Given the description of an element on the screen output the (x, y) to click on. 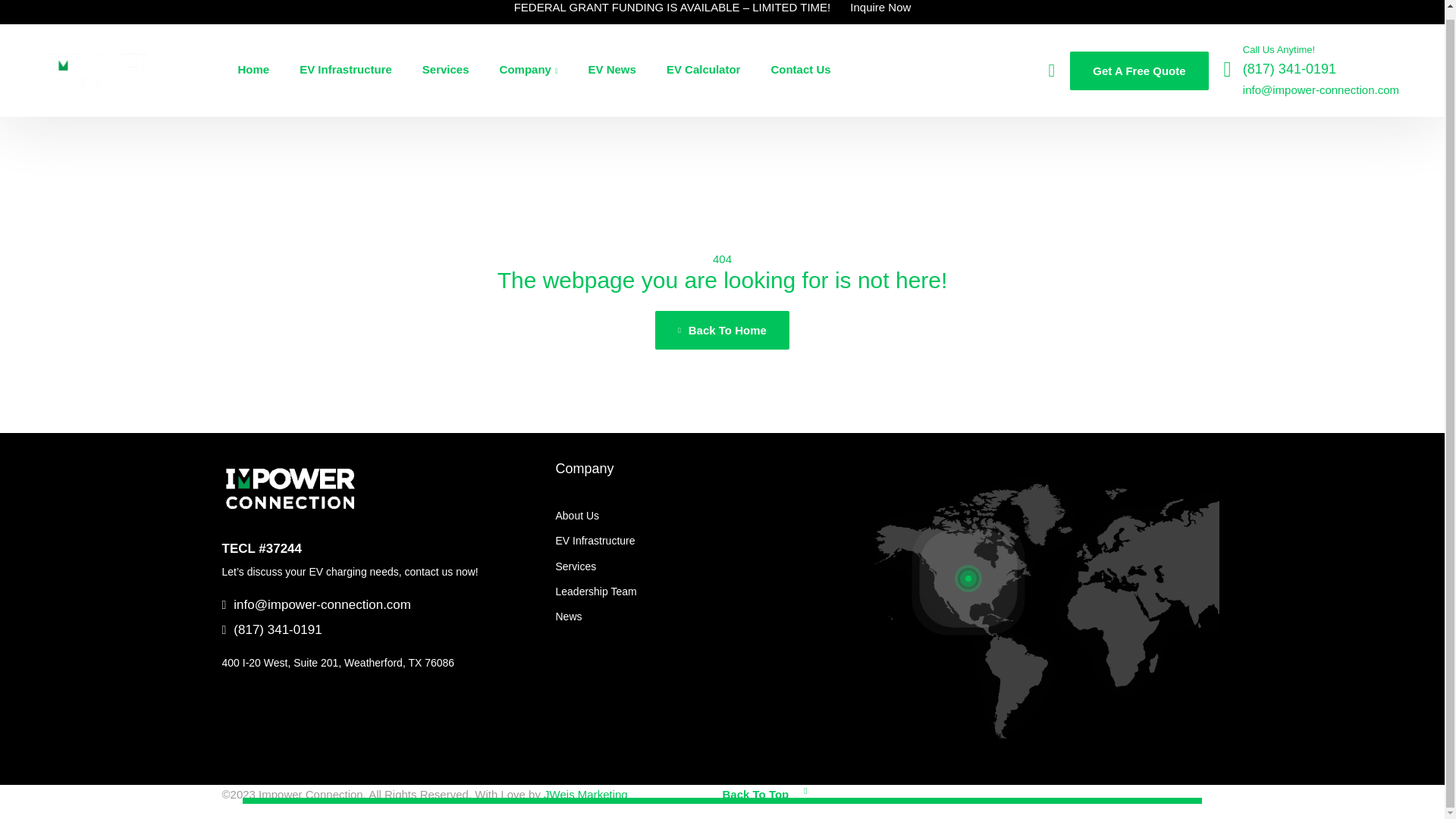
Services (705, 566)
News (705, 616)
Company (583, 468)
Back To Top (764, 793)
EV Infrastructure (705, 540)
Get A Free Quote (1139, 69)
Inquire Now (880, 9)
Leadership Team (705, 591)
JWeis Marketing (585, 793)
EV Infrastructure (345, 69)
About Us (705, 515)
Back To Home (722, 330)
Impower (100, 70)
EV Calculator (703, 69)
